Given the description of an element on the screen output the (x, y) to click on. 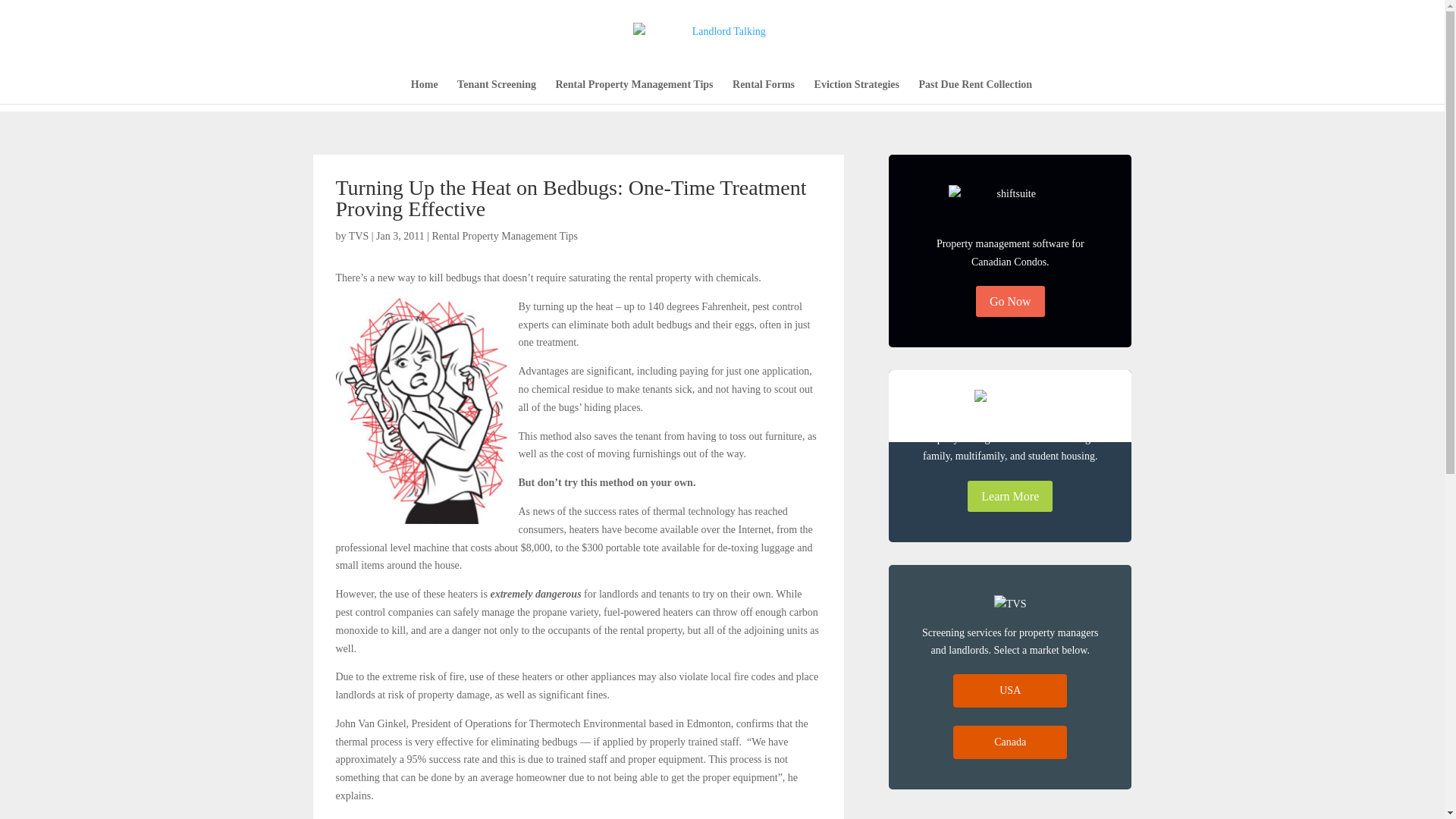
USA (1010, 690)
Home (424, 91)
Go Now (1010, 300)
Rental Property Management Tips (504, 235)
Rental Forms (763, 91)
Posts by TVS (358, 235)
Screening for Canada (1010, 742)
Learn More (1010, 495)
Eviction Strategies (856, 91)
Screening for USA  (1010, 690)
